Given the description of an element on the screen output the (x, y) to click on. 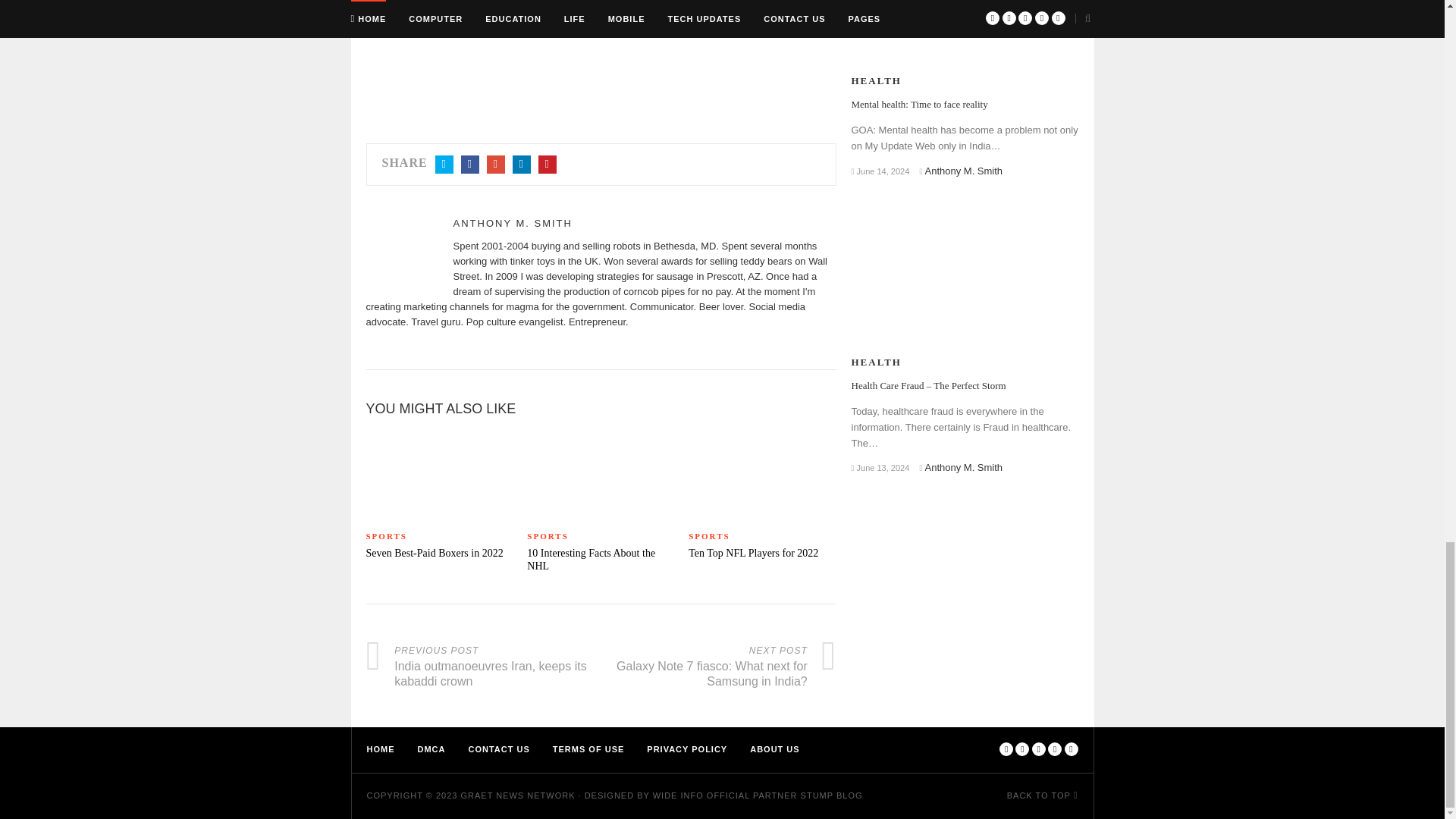
Seven Best-Paid Boxers in 2022 1 (438, 474)
10 Interesting Facts About the NHL 2 (600, 474)
Advertisement (600, 56)
